Given the description of an element on the screen output the (x, y) to click on. 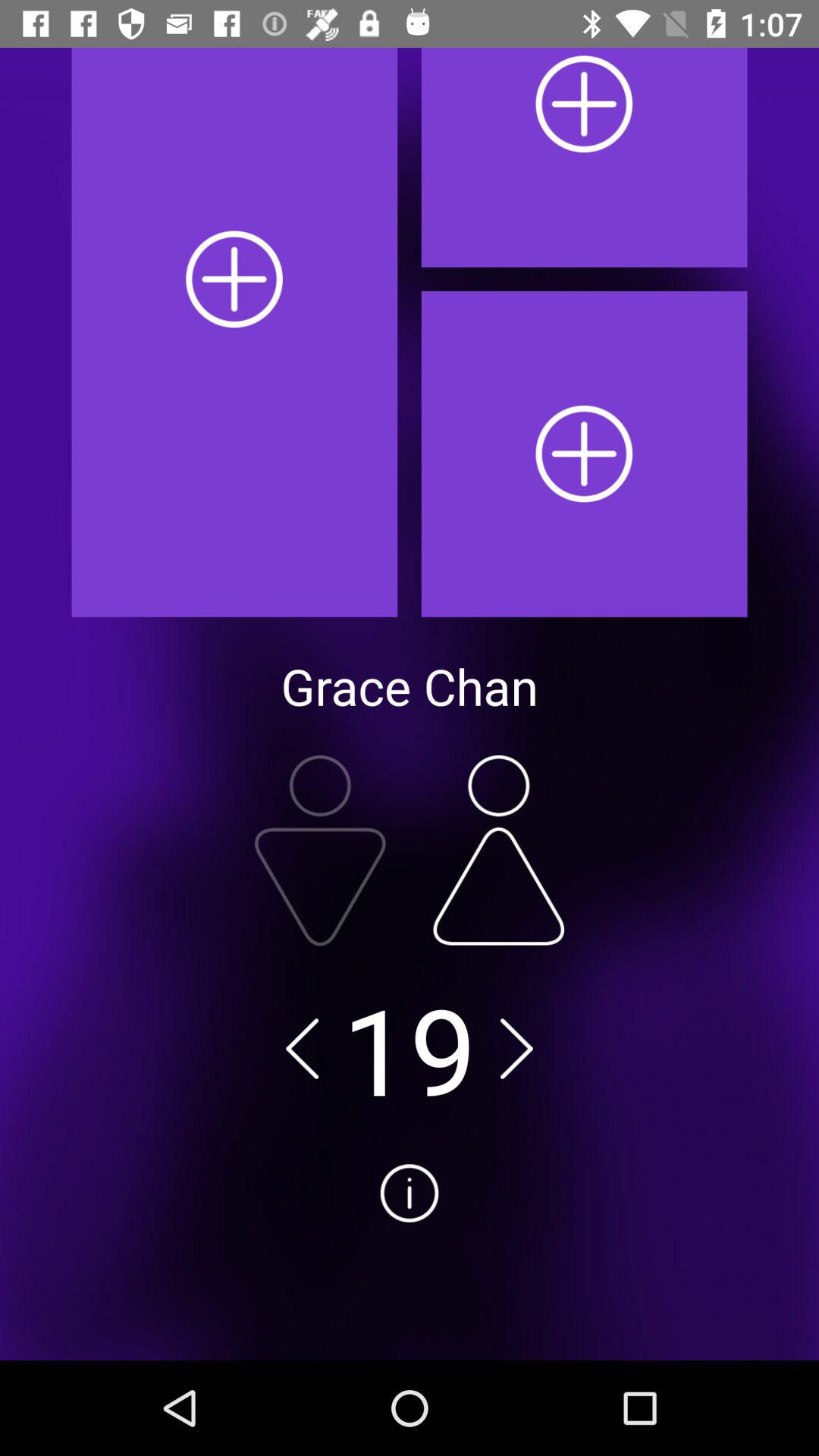
male switch option (319, 850)
